Given the description of an element on the screen output the (x, y) to click on. 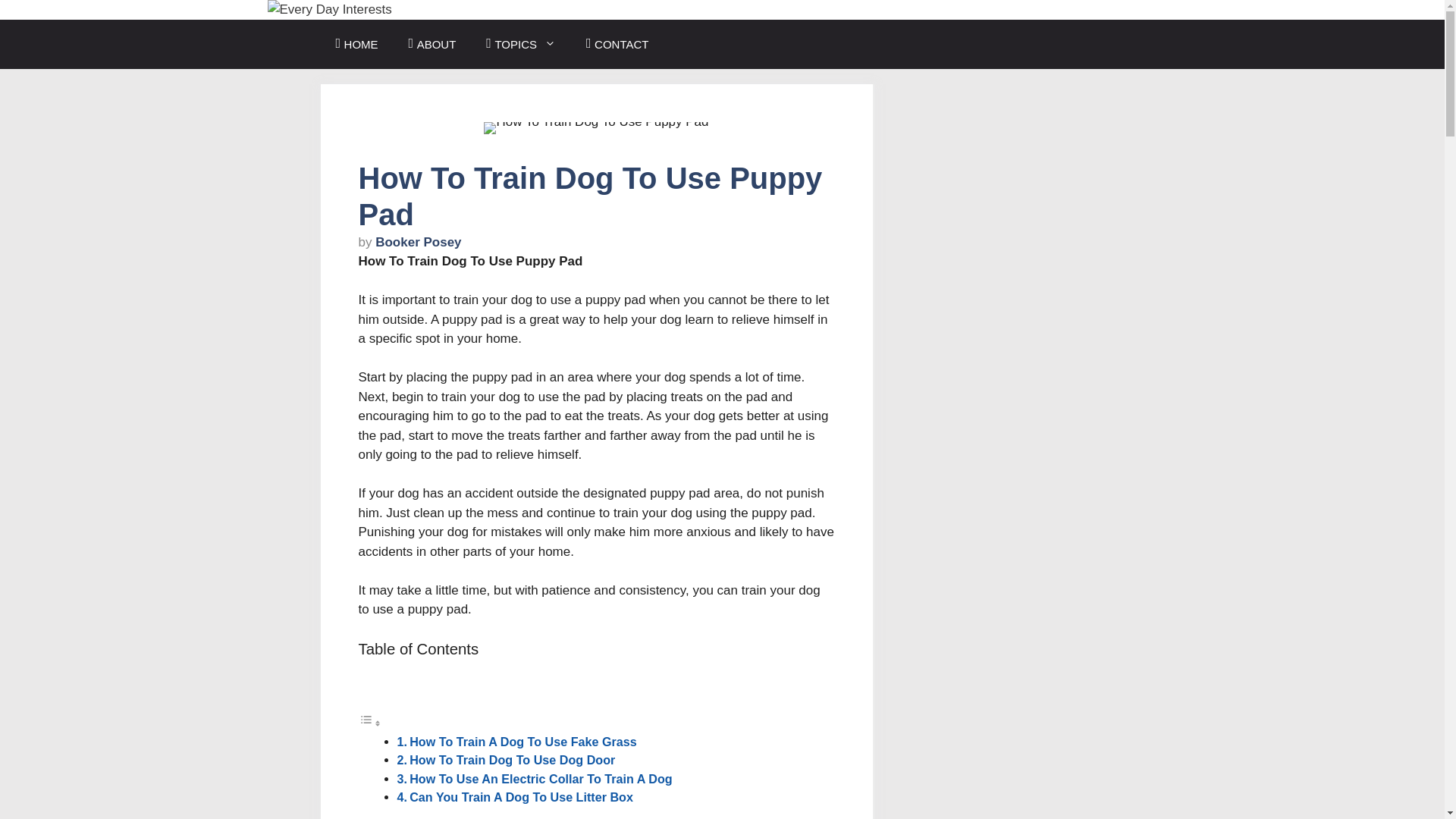
How To Train A Dog To Use Fake Grass (523, 741)
TOPICS (520, 43)
Can You Train A Dog To Use Litter Box (521, 796)
ABOUT (432, 43)
View all posts by Booker Posey (418, 242)
How To Train A Dog To Use Fake Grass (523, 741)
How To Train Dog To Use Puppy Pad 1 (595, 127)
CONTACT (616, 43)
How To Train Dog To Use Dog Door (511, 759)
HOME (356, 43)
Booker Posey (418, 242)
How To Use An Electric Collar To Train A Dog (540, 778)
